Given the description of an element on the screen output the (x, y) to click on. 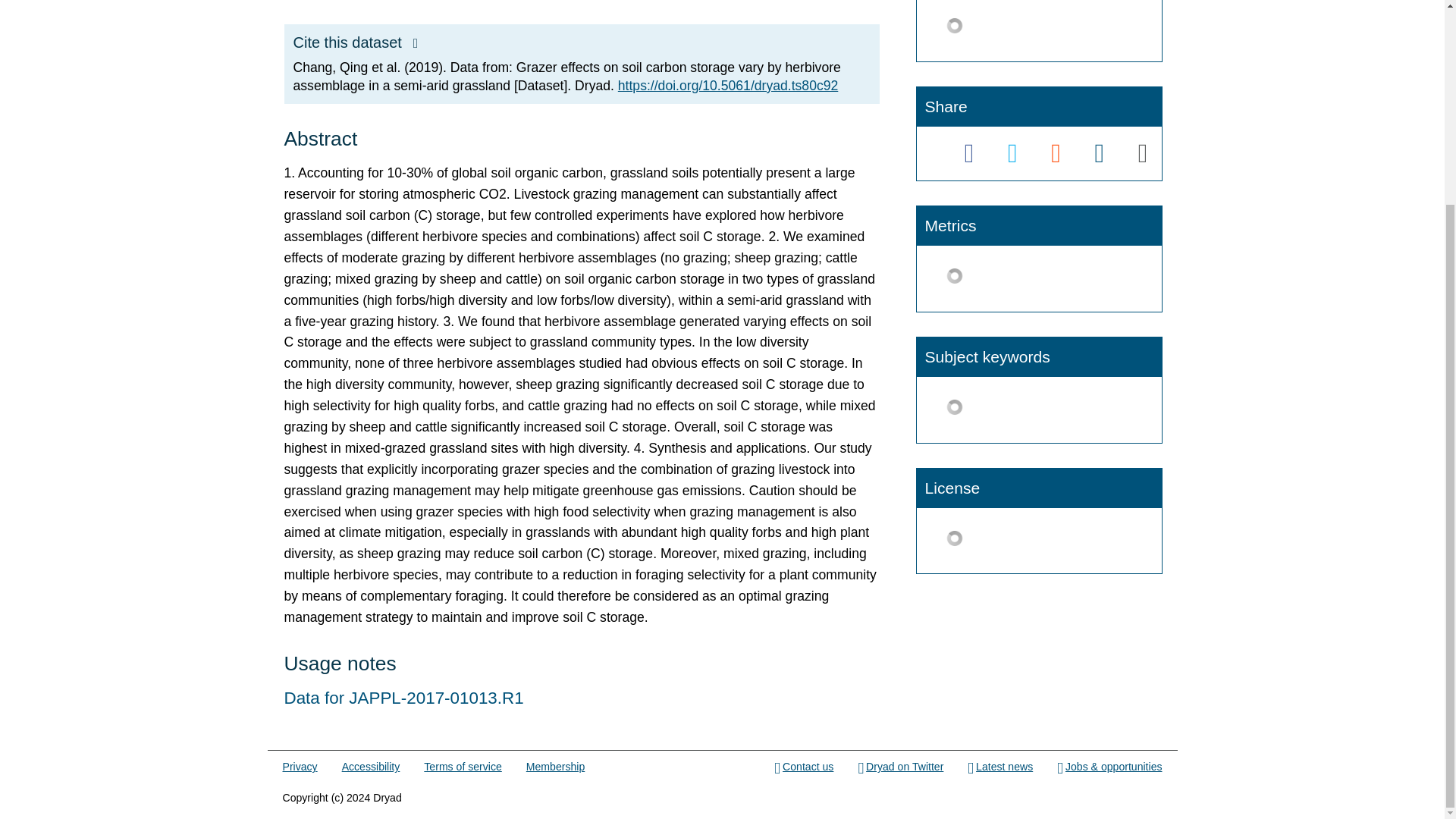
Contact us (803, 767)
Privacy (299, 767)
Accessibility (371, 767)
Terms of service (461, 767)
Membership (555, 767)
